Given the description of an element on the screen output the (x, y) to click on. 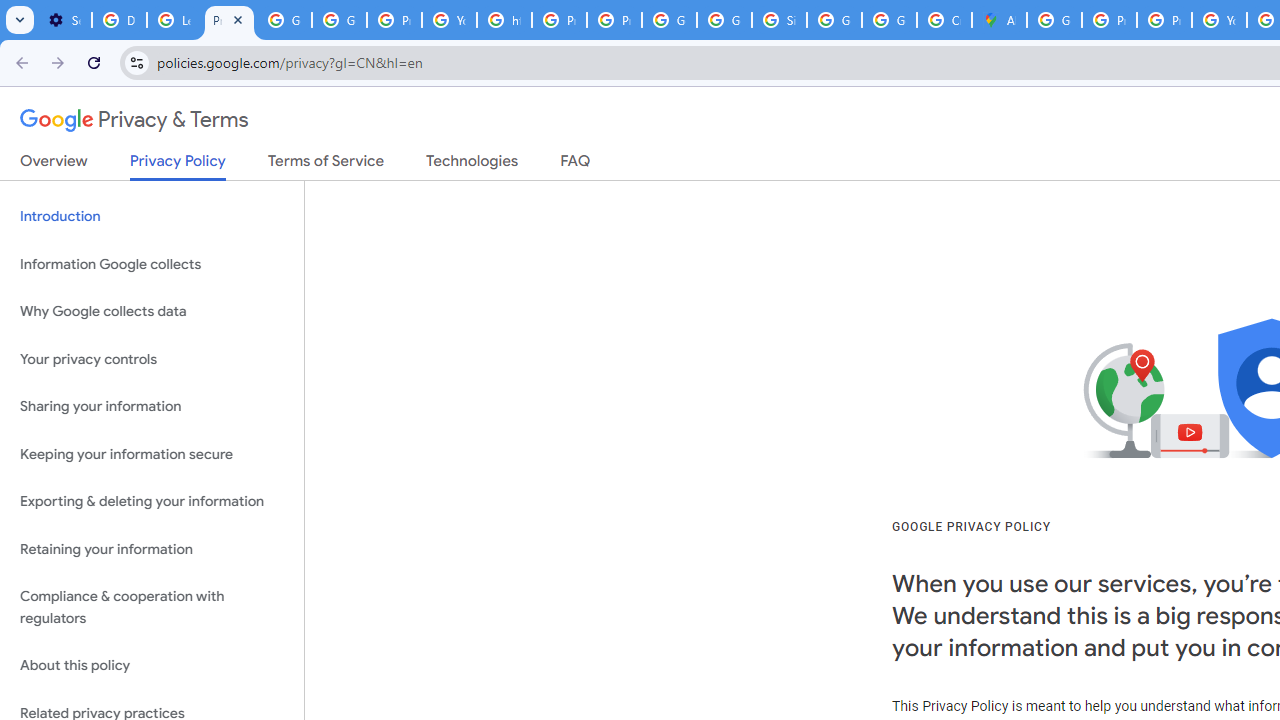
Settings - Performance (64, 20)
